Given the description of an element on the screen output the (x, y) to click on. 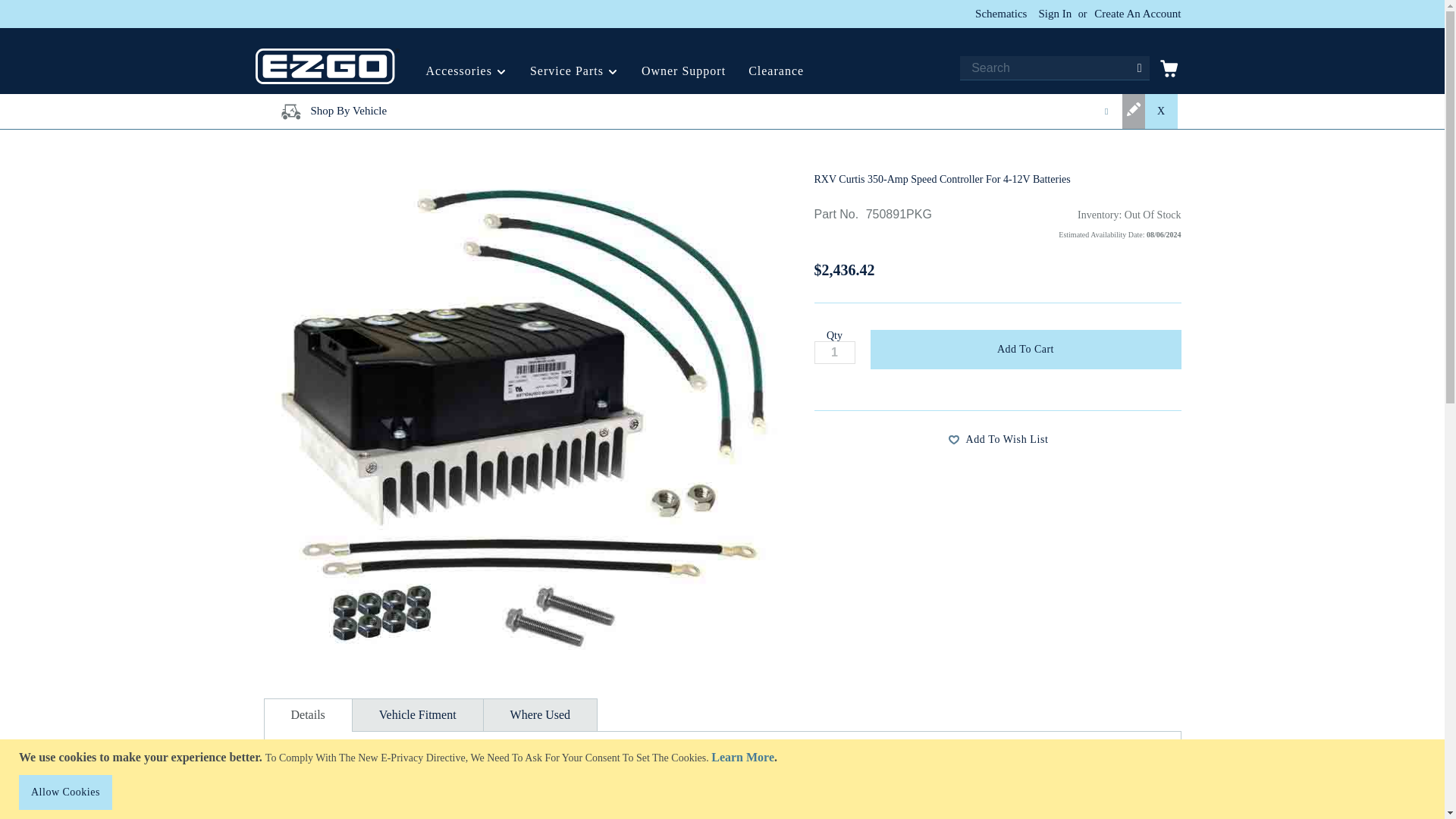
1 (834, 352)
E-Z-GO (326, 66)
Search (1139, 68)
Search (1139, 68)
Learn More (742, 757)
Availability (1088, 225)
Schematics (1000, 13)
Allow Cookies (65, 791)
Qty (834, 352)
Add to Cart (1025, 349)
Sign In (1054, 13)
Create An Account (1137, 13)
Accessories (466, 70)
My Cart (1167, 70)
